Given the description of an element on the screen output the (x, y) to click on. 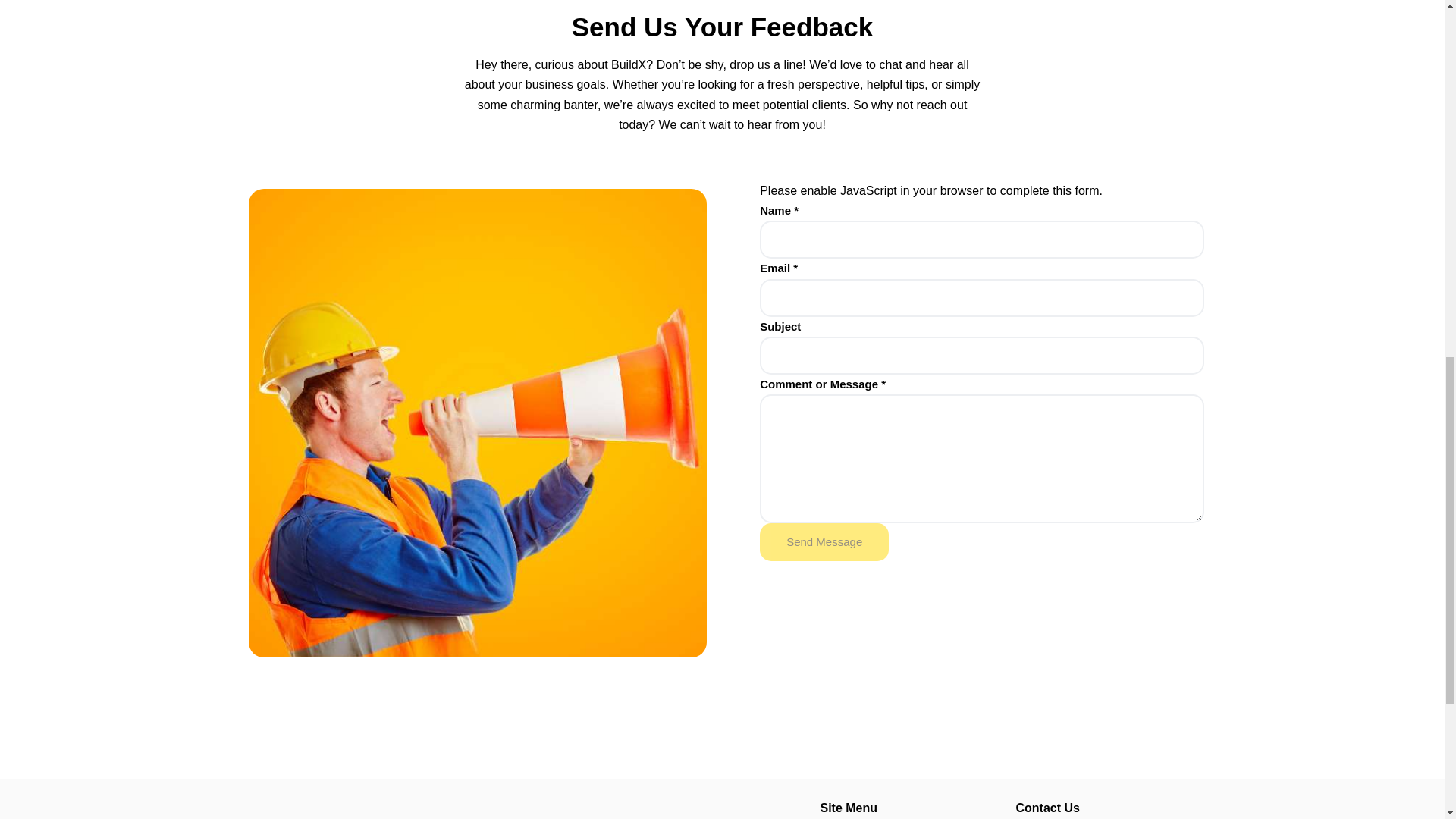
Send Message (824, 542)
